Given the description of an element on the screen output the (x, y) to click on. 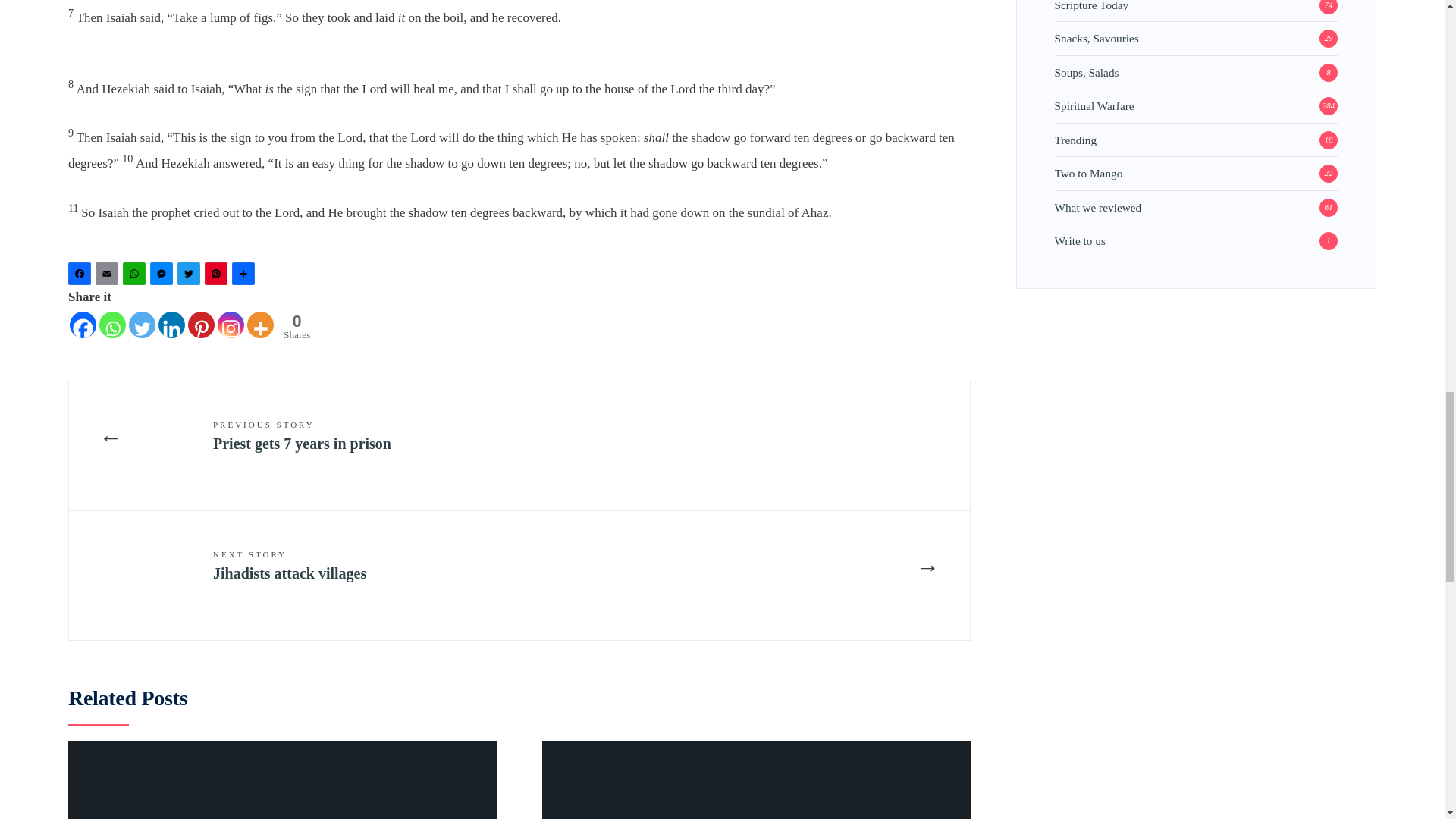
WhatsApp (135, 277)
Messenger (163, 277)
WhatsApp (293, 326)
Twitter (135, 277)
Pinterest (191, 277)
Facebook (218, 277)
Email (82, 277)
Facebook (109, 277)
Email (82, 277)
Twitter (109, 277)
Share (191, 277)
Messenger (245, 277)
